Given the description of an element on the screen output the (x, y) to click on. 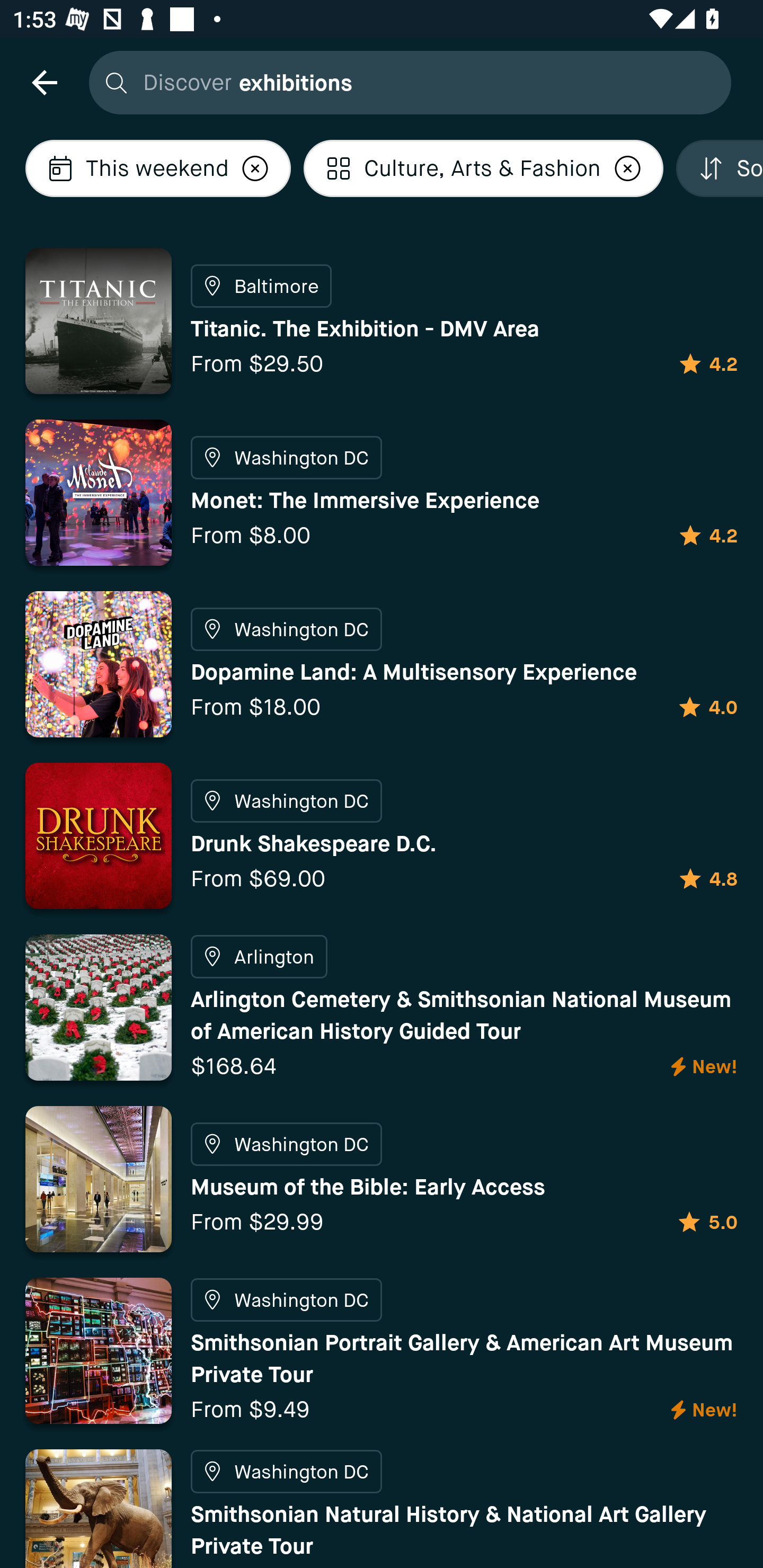
navigation icon (44, 81)
Discover exhibitions (405, 81)
Localized description (255, 168)
Localized description (627, 168)
Localized description Sort (719, 168)
